Given the description of an element on the screen output the (x, y) to click on. 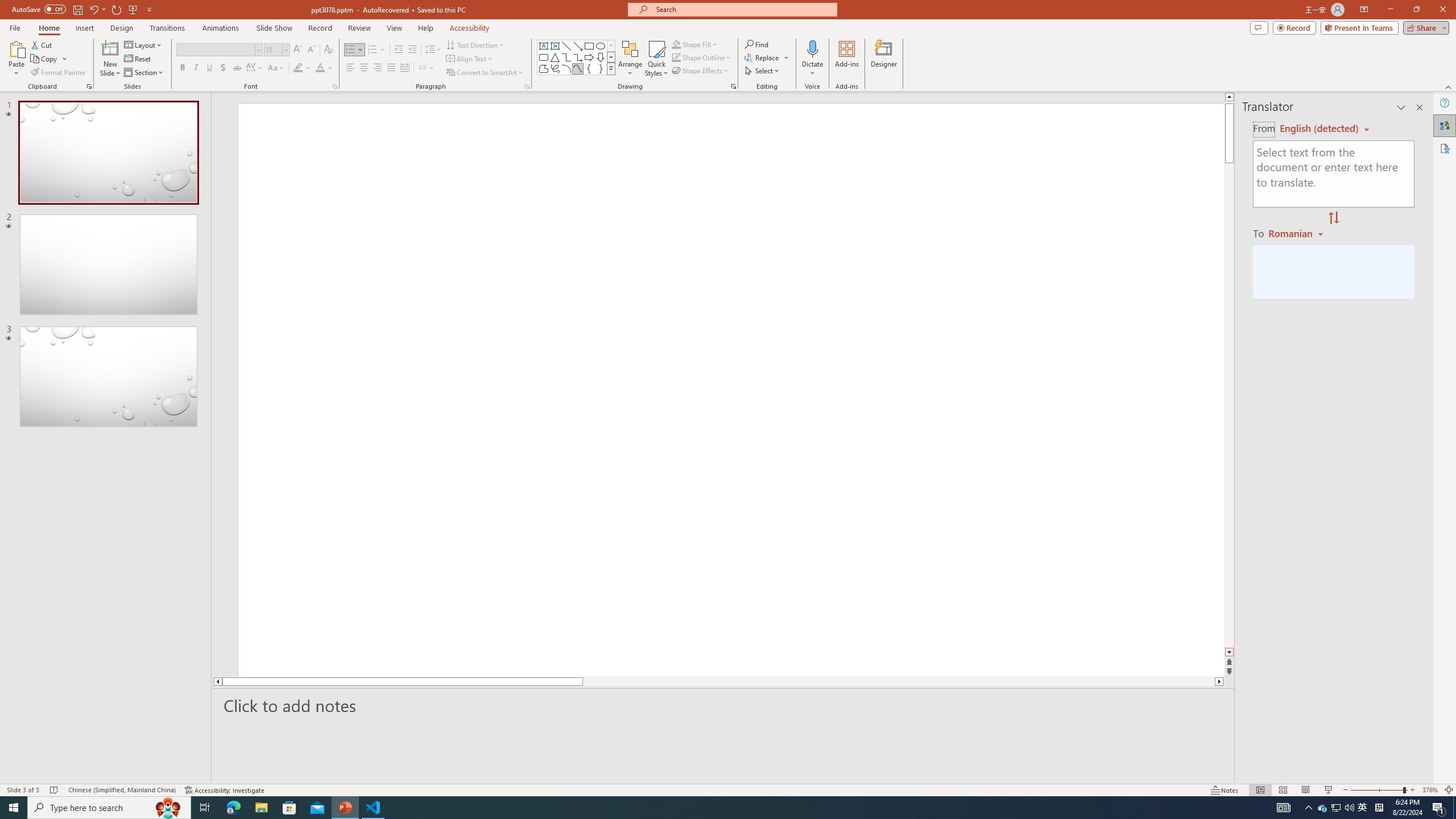
Auto-hide Reading Toolbar (1312, 11)
Tools (72, 11)
Increase Text Size (1413, 773)
Page Number Screen 1 of 1  (34, 773)
